Given the description of an element on the screen output the (x, y) to click on. 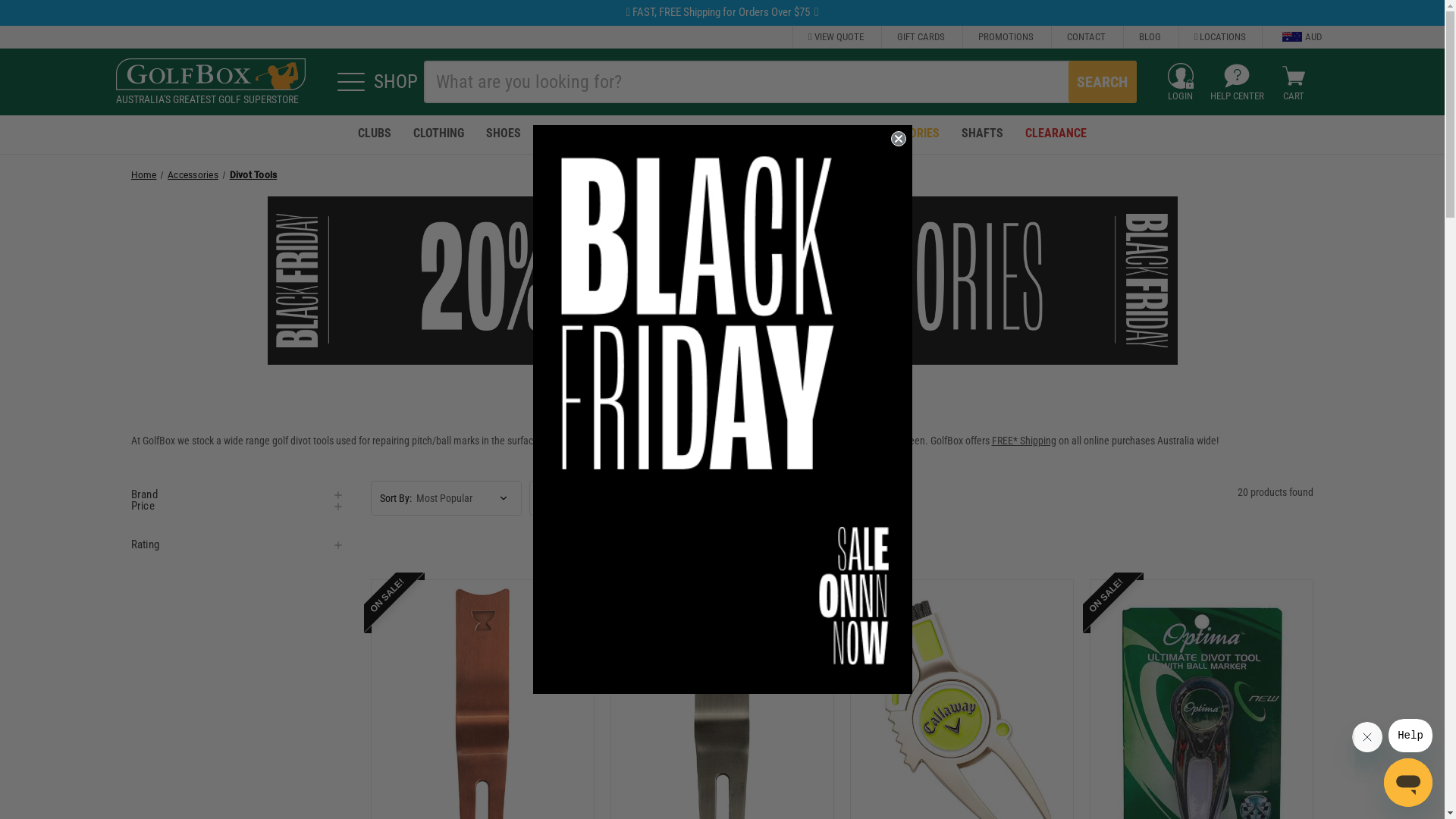
BLOG Element type: text (1149, 36)
CLUBS Element type: text (373, 134)
SHAFTS Element type: text (981, 134)
Search Element type: hover (1102, 81)
GolfBox Element type: hover (209, 74)
Button to launch messaging window Element type: hover (1407, 782)
Home Element type: text (143, 174)
BALLS Element type: text (559, 134)
Help Center Element type: hover (1236, 75)
SHOES Element type: text (503, 134)
CONTACT Element type: text (1085, 36)
Sale Banner Element type: hover (721, 280)
Accessories Element type: text (192, 174)
Message from company Element type: hover (1410, 735)
SEARCH Element type: text (1102, 81)
Login Element type: hover (1180, 75)
CLEARANCE Element type: text (1056, 134)
GIFT CARDS Element type: text (920, 36)
Submit Element type: text (23, 9)
CART Element type: text (1293, 81)
BUGGIES Element type: text (670, 134)
Close message Element type: hover (1367, 736)
TECHNOLOGY Element type: text (810, 134)
AUD Element type: text (1291, 36)
FREE* Shipping Element type: text (1023, 440)
CLOTHING Element type: text (437, 134)
Divot Tools Element type: text (253, 174)
GLOVES Element type: text (734, 134)
BAGS Element type: text (612, 134)
SHOP Element type: text (372, 81)
HELP CENTER Element type: text (1236, 81)
PROMOTIONS Element type: text (1005, 36)
ACCESSORIES Element type: text (903, 134)
LOGIN Element type: text (1180, 81)
